Given the description of an element on the screen output the (x, y) to click on. 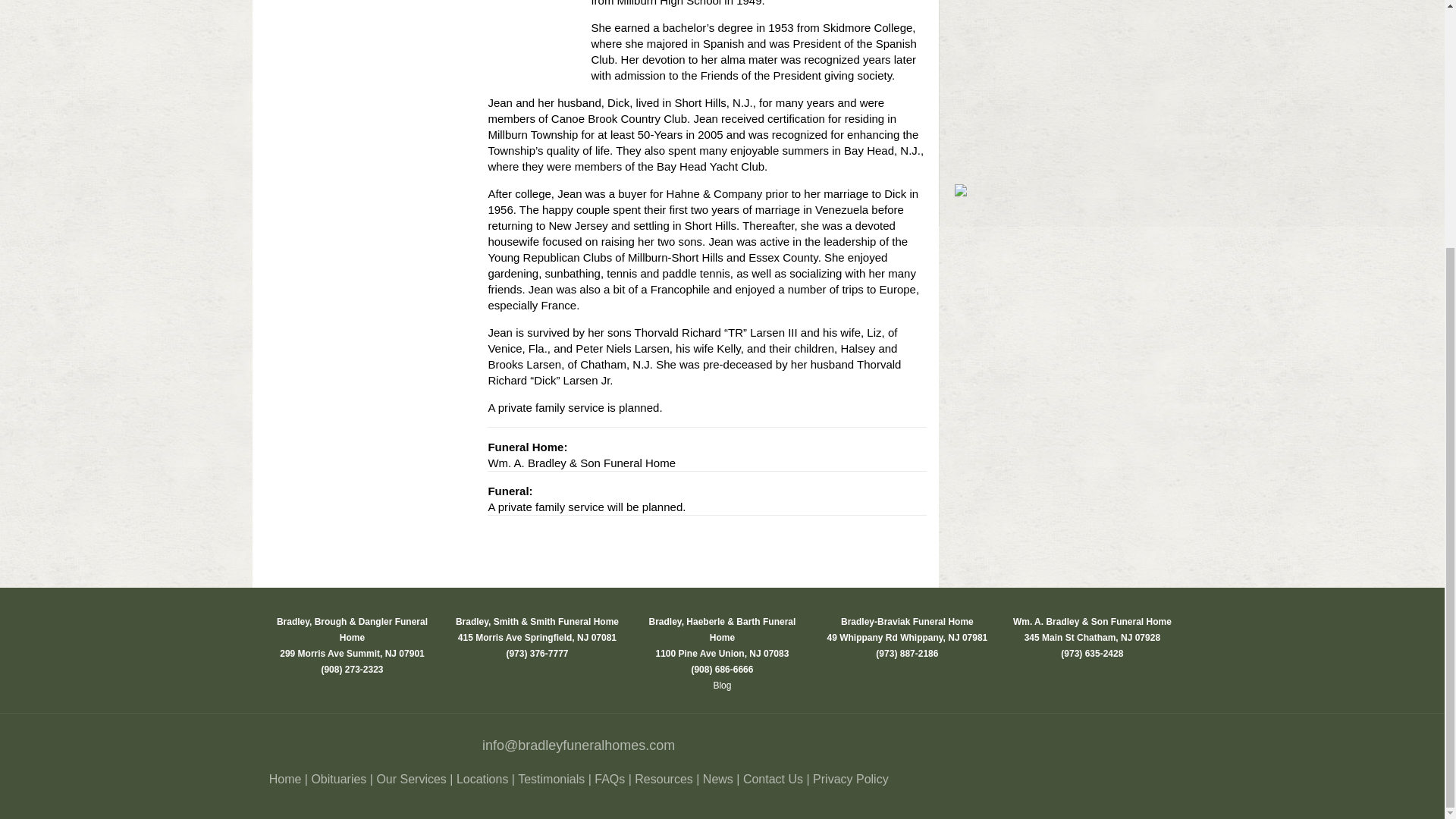
FAQs (609, 779)
News (718, 779)
Testimonials (551, 779)
Locations (482, 779)
Funeral Planning Resource Center (410, 779)
Obituaries and Services (338, 779)
Resources (663, 779)
Contact Us (772, 779)
